Given the description of an element on the screen output the (x, y) to click on. 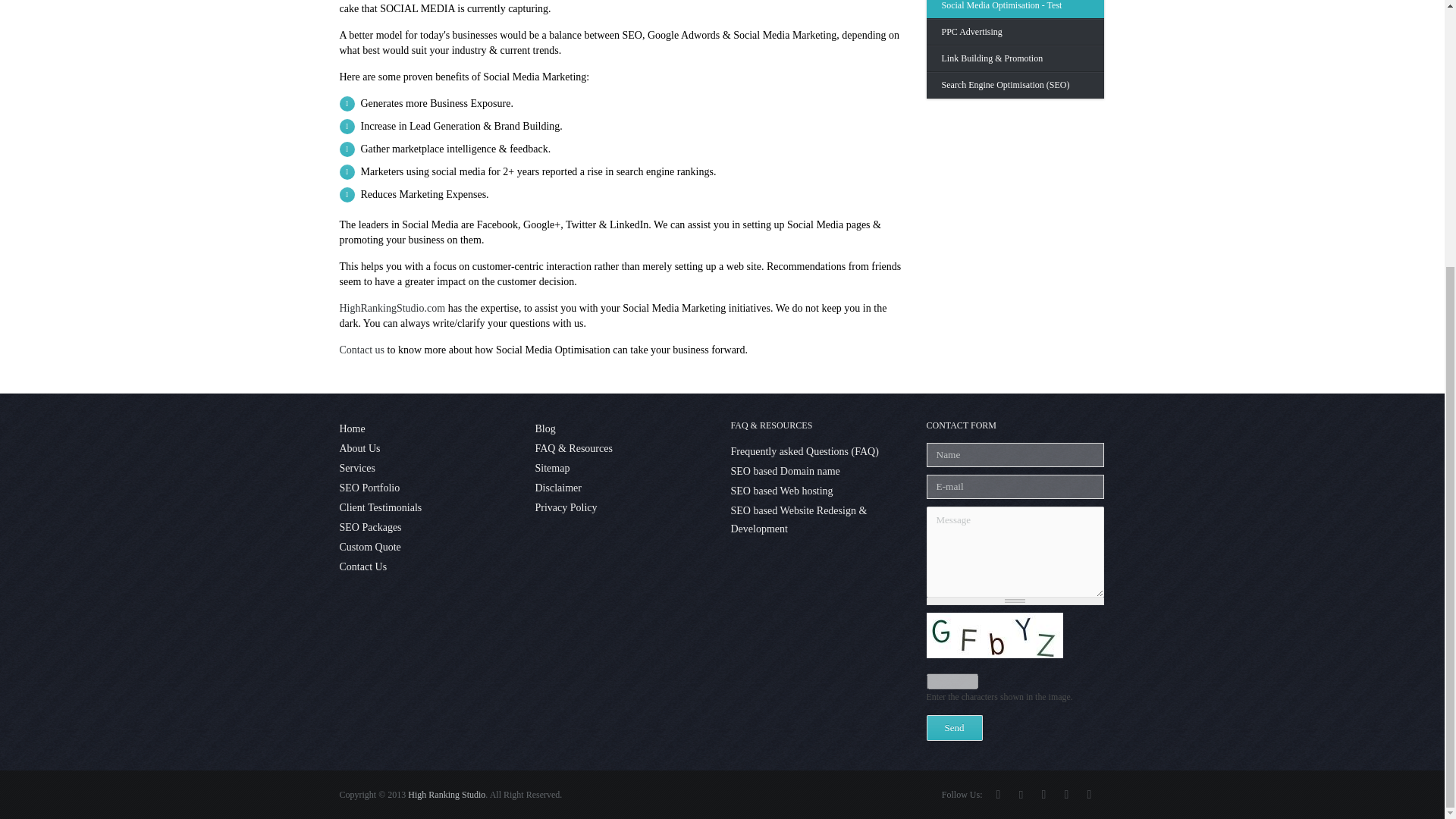
Name (1014, 454)
Custom Quote (427, 547)
About Us (427, 448)
Home (427, 429)
SEO Packages (427, 527)
Social Media Optimisation - Test (1014, 9)
Image CAPTCHA (994, 635)
E-mail (1014, 486)
Services (427, 468)
SEO Portfolio (427, 488)
Send (954, 727)
Client Testimonials (427, 507)
Blog (624, 429)
Contact Us (427, 566)
Contact us (363, 349)
